Given the description of an element on the screen output the (x, y) to click on. 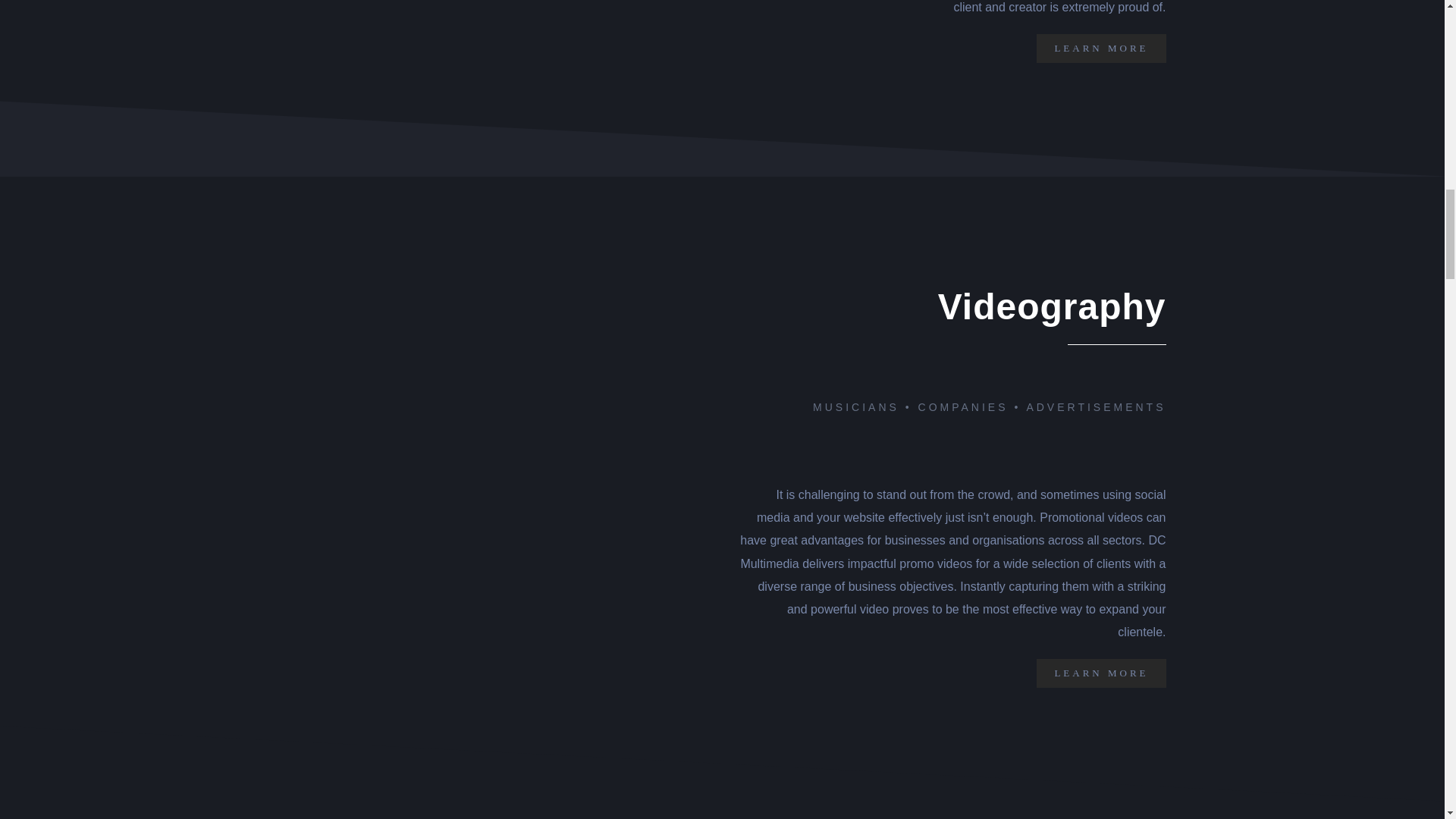
LEARN MORE (1101, 48)
LEARN MORE (1101, 673)
